Given the description of an element on the screen output the (x, y) to click on. 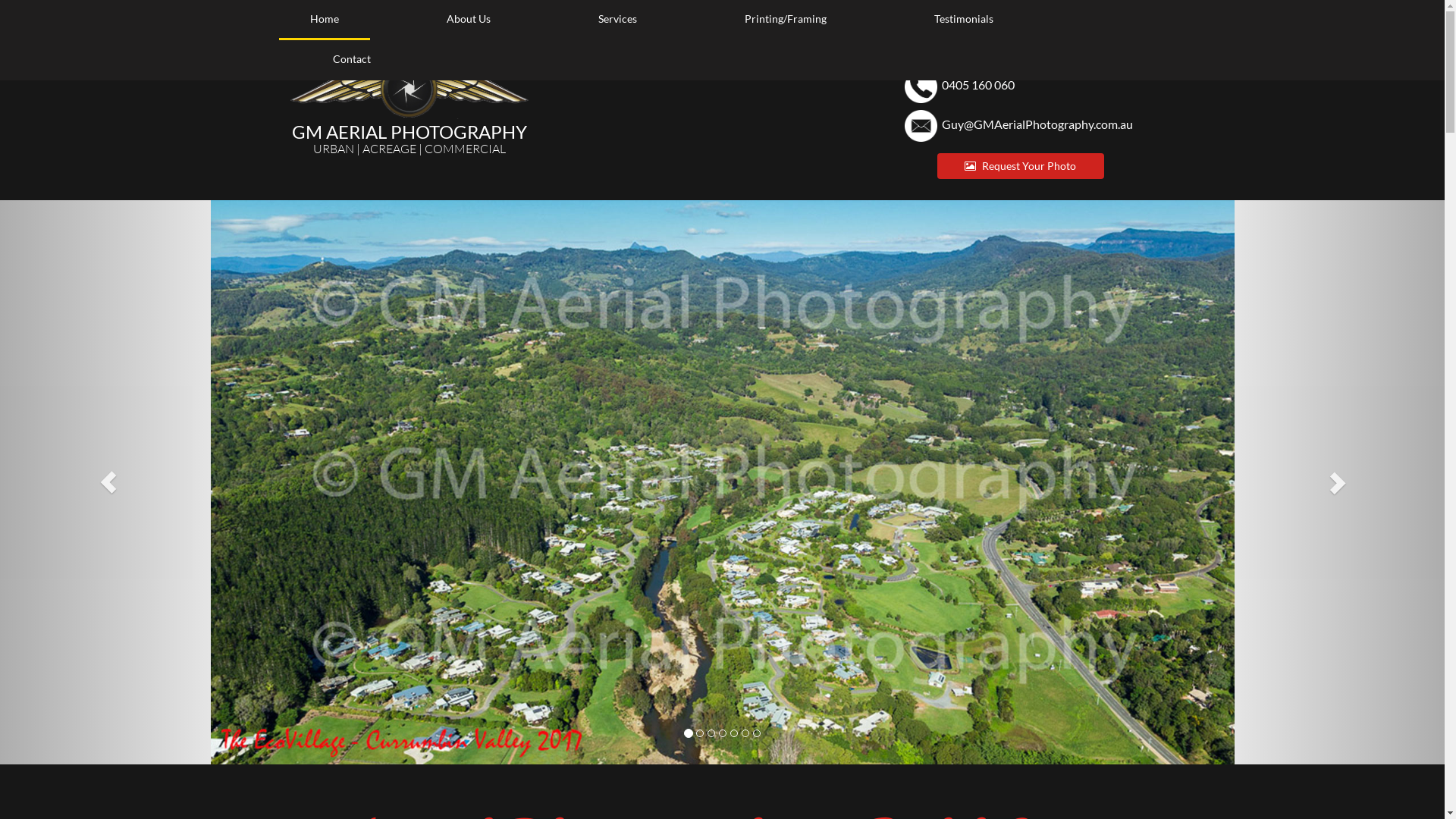
Printing/Framing Element type: text (784, 20)
Contact Element type: text (351, 60)
About Us Element type: text (468, 20)
Testimonials Element type: text (962, 20)
0405 160 060 Element type: text (977, 84)
Home Element type: text (324, 20)
Request Your Photo Element type: text (1020, 165)
Guy@GMAerialPhotography.com.au Element type: text (1036, 123)
Cancel Upload Element type: text (32, 10)
Previous Element type: text (108, 482)
Services Element type: text (617, 20)
Next Element type: text (1335, 482)
